Given the description of an element on the screen output the (x, y) to click on. 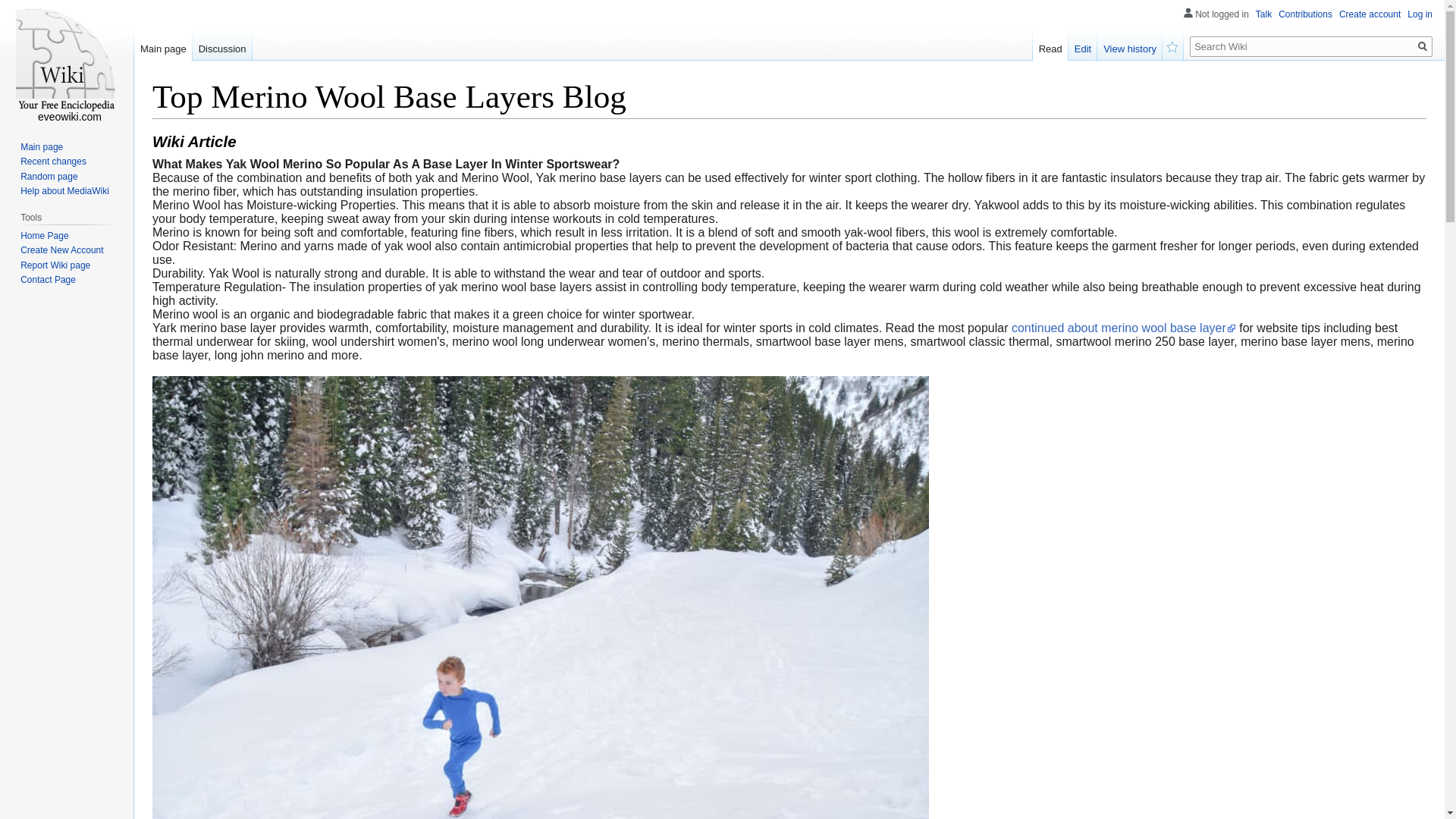
Create New Account (61, 249)
Main page (162, 45)
continued about merino wool base layer (1123, 327)
Go (1422, 46)
Search (1422, 46)
Main page (41, 146)
Contact Page (47, 279)
Talk (1263, 14)
Go (1422, 46)
Search (1422, 46)
View history (1129, 45)
Search pages for this text (1422, 46)
Home Page (44, 235)
Visit the main page (66, 60)
